Given the description of an element on the screen output the (x, y) to click on. 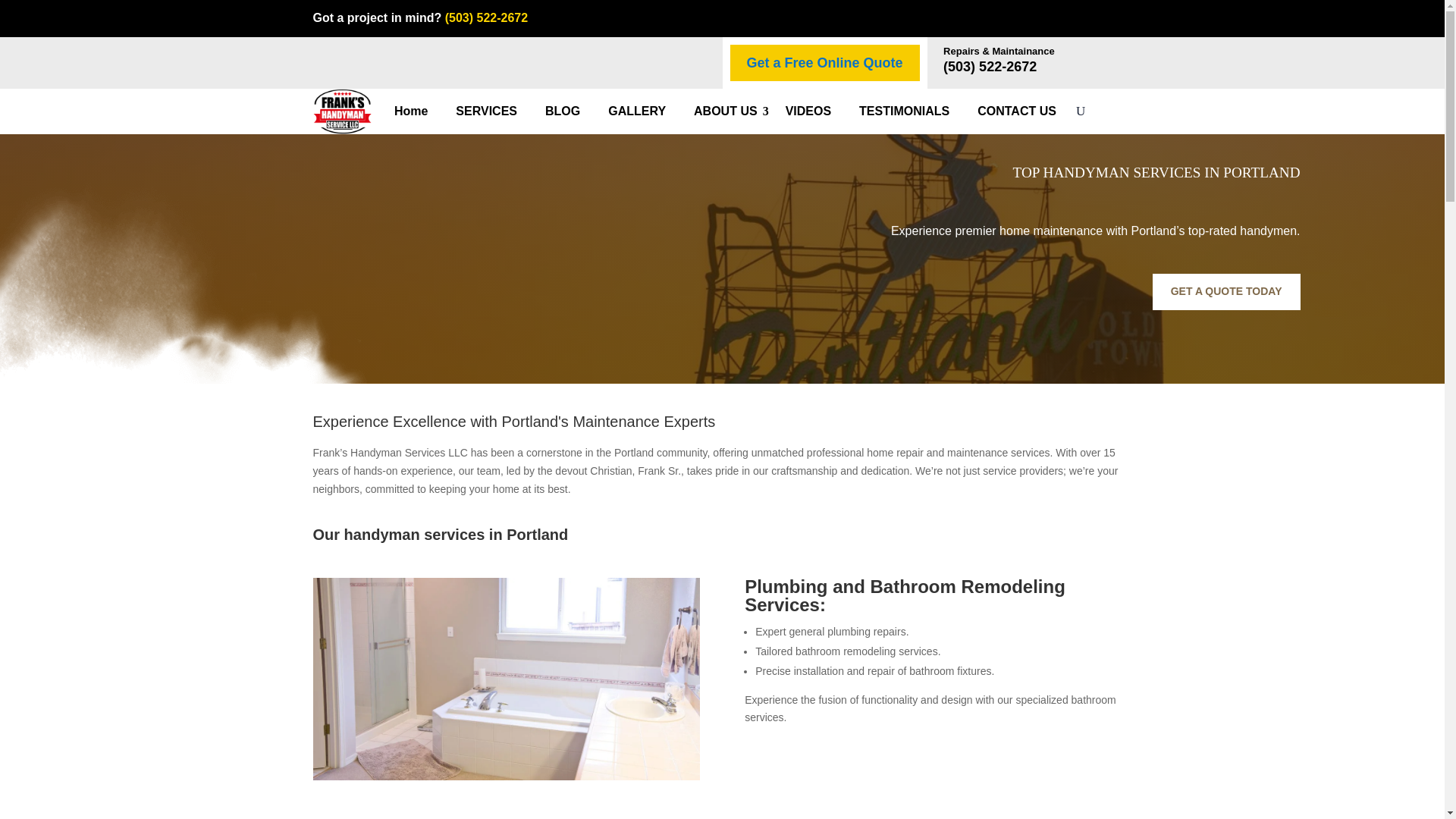
Home (416, 111)
ABOUT US (731, 111)
BLOG (567, 111)
watercolor-divider-01 (183, 282)
GALLERY (642, 111)
modern-bathroom-remodel (505, 679)
VIDEOS (814, 111)
TESTIMONIALS (909, 111)
Get a Free Online Quote (823, 63)
GET A QUOTE TODAY (1226, 291)
CONTACT US (1021, 111)
SERVICES (491, 111)
